Given the description of an element on the screen output the (x, y) to click on. 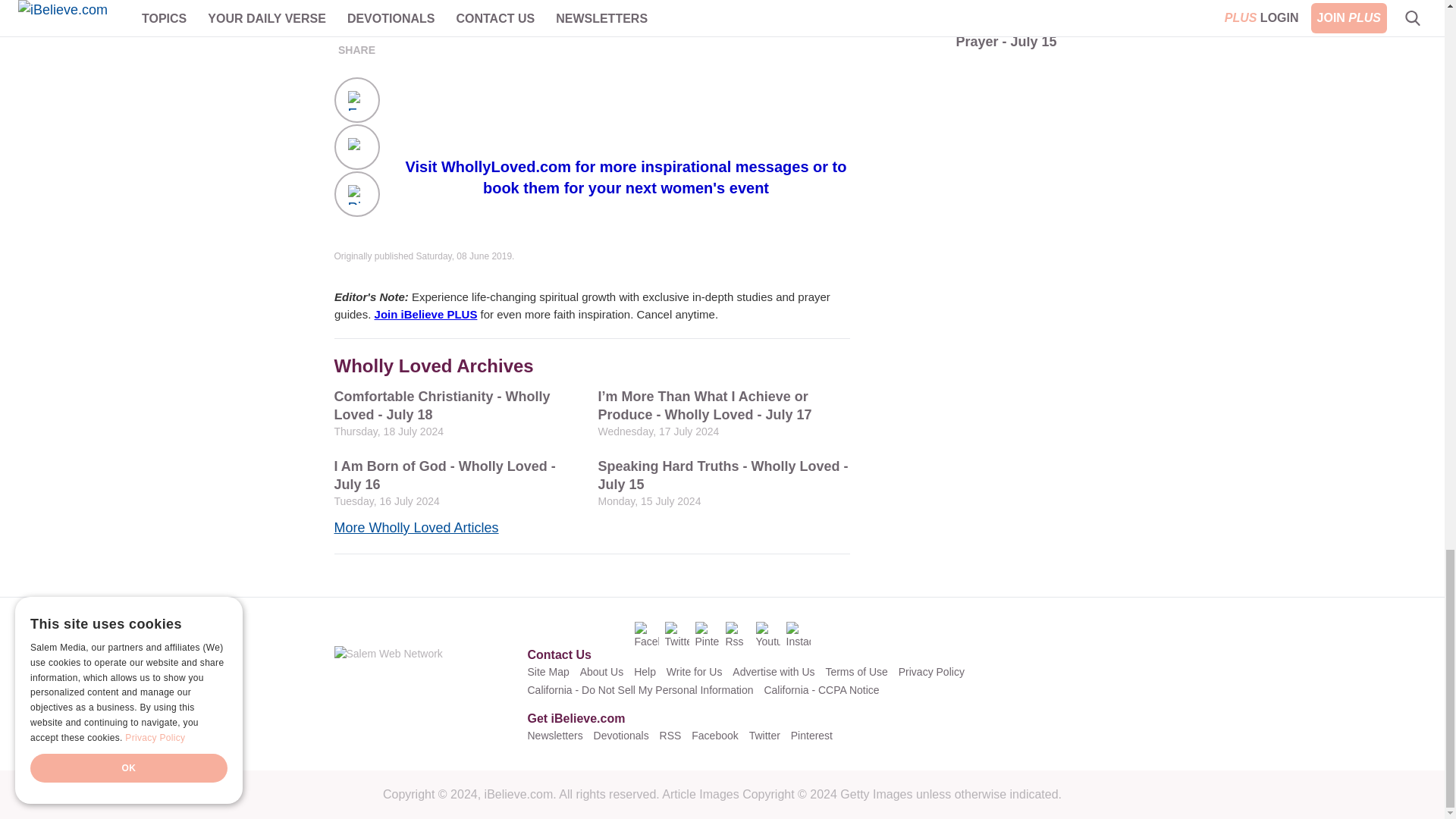
Comfortable Christianity - Wholly Loved - July 18 (459, 412)
I Am Born of God - Wholly Loved - July 16 (459, 482)
Speaking Hard Truths - Wholly Loved - July 15 (722, 482)
